Given the description of an element on the screen output the (x, y) to click on. 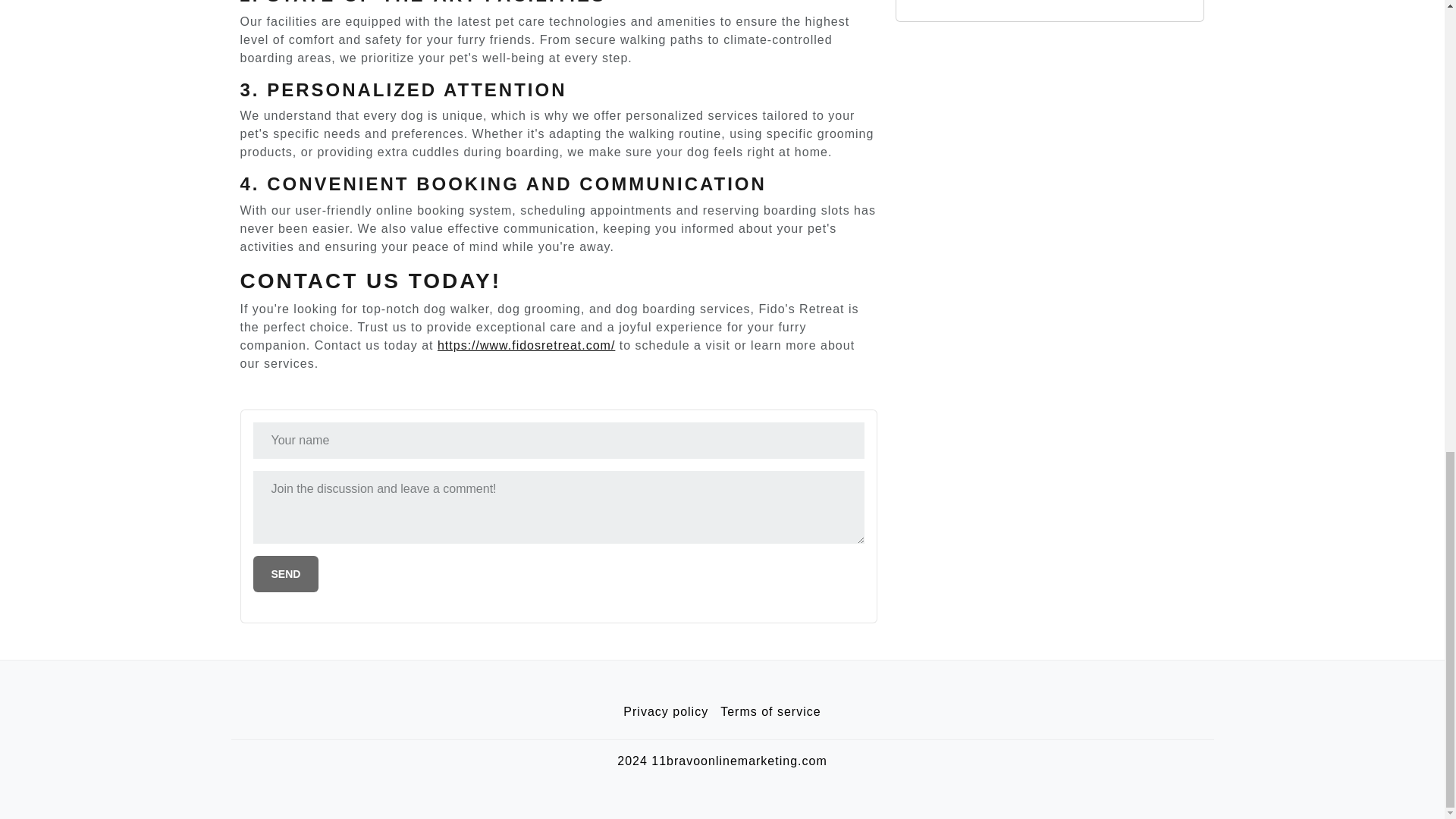
Privacy policy (665, 711)
Terms of service (770, 711)
Send (285, 574)
Send (285, 574)
